Given the description of an element on the screen output the (x, y) to click on. 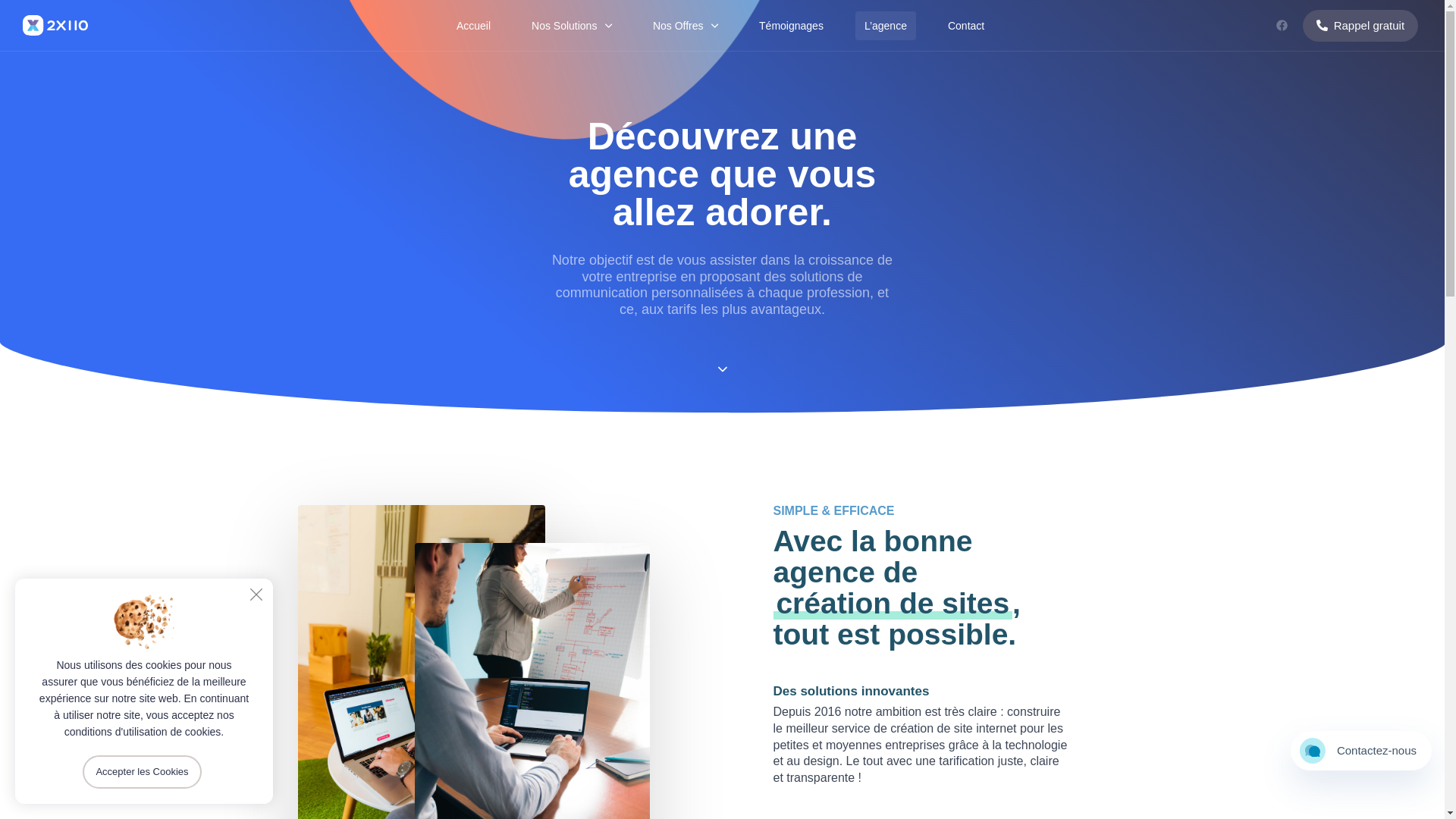
Contactez-nous Element type: text (1360, 750)
Accueil Element type: text (473, 25)
Nos Solutions Element type: text (571, 25)
Rappel gratuit Element type: text (1360, 25)
Contact Element type: text (965, 25)
Accepter les Cookies Element type: text (141, 771)
Nos Offres Element type: text (685, 25)
